Given the description of an element on the screen output the (x, y) to click on. 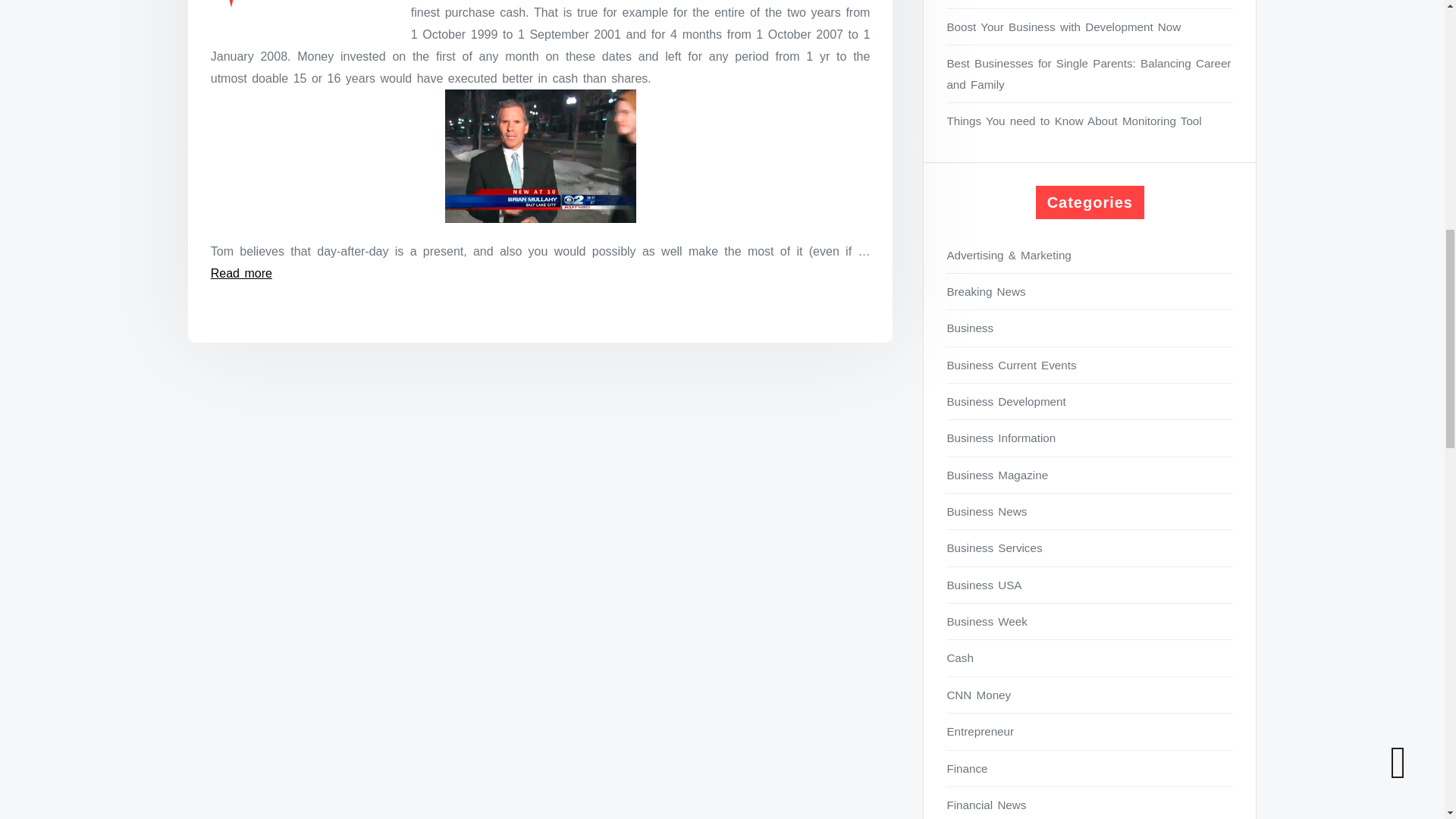
Read more (241, 273)
Business Current Events (1089, 364)
Things You need to Know About Monitoring Tool (1089, 120)
Business (1089, 327)
Boost Your Business with Development Now (1089, 26)
Breaking News (1089, 291)
